Given the description of an element on the screen output the (x, y) to click on. 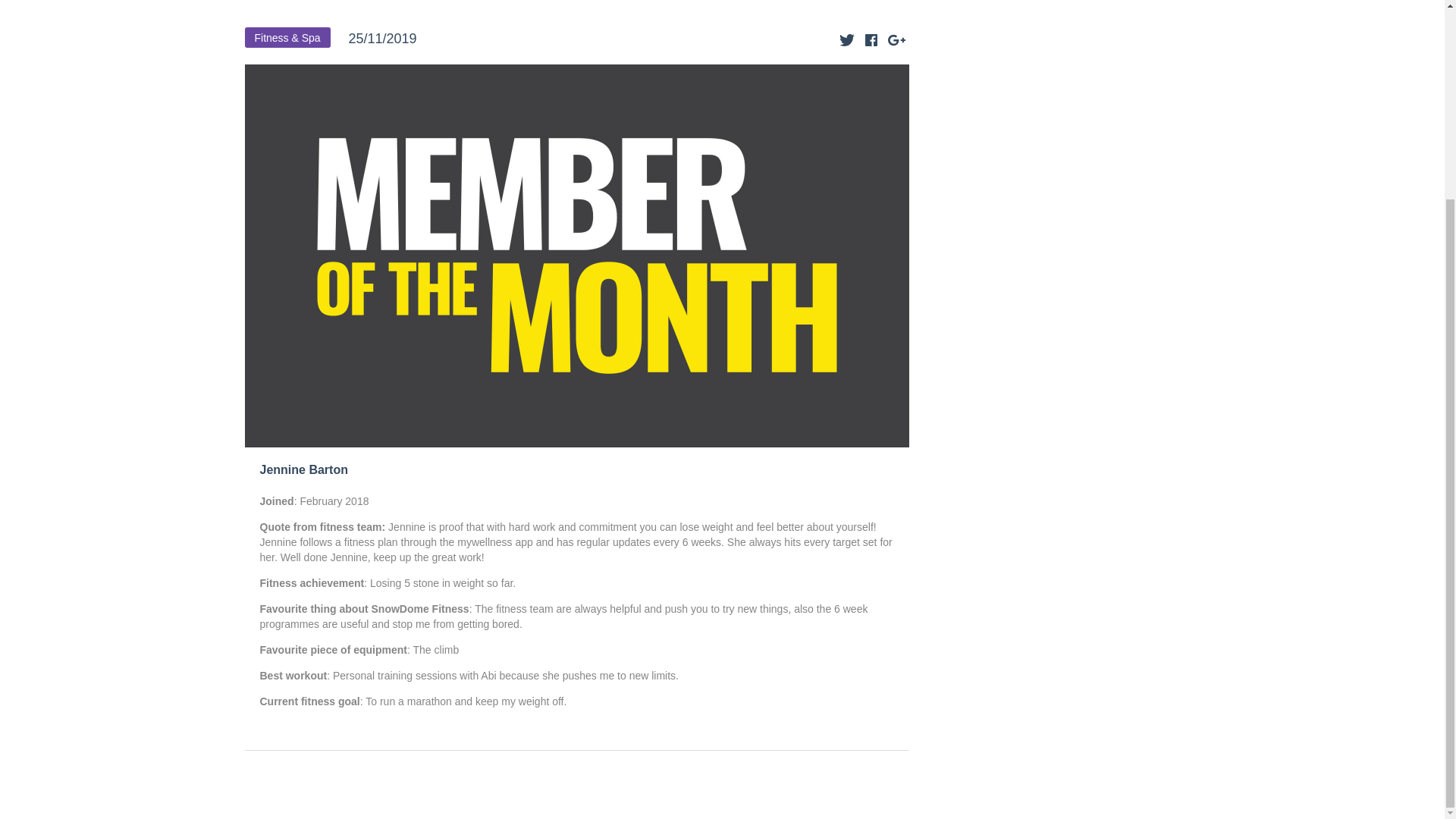
gplus (895, 39)
Facebook (870, 39)
Twitter (847, 39)
